Given the description of an element on the screen output the (x, y) to click on. 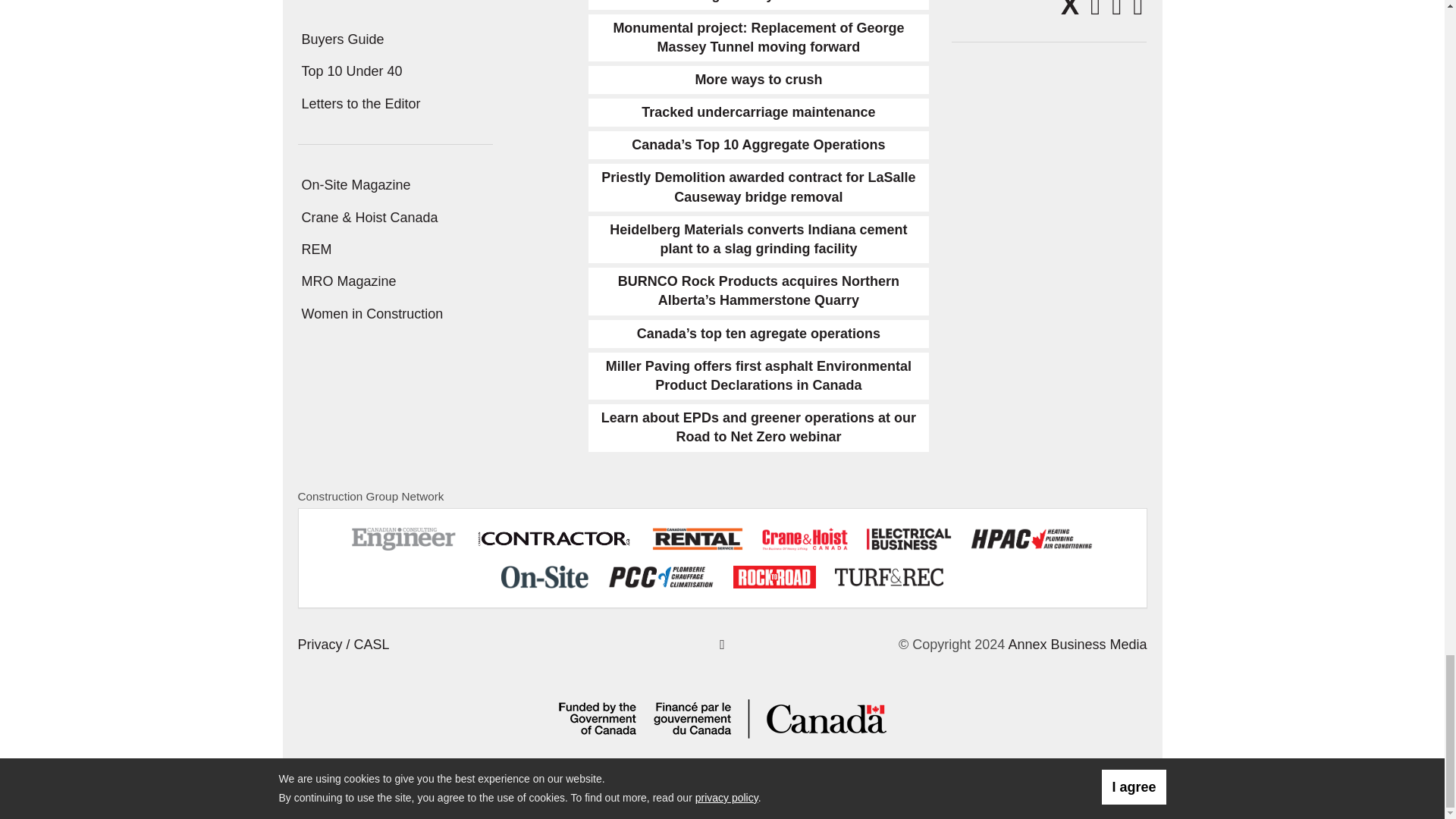
Annex Business Media (1077, 644)
